Given the description of an element on the screen output the (x, y) to click on. 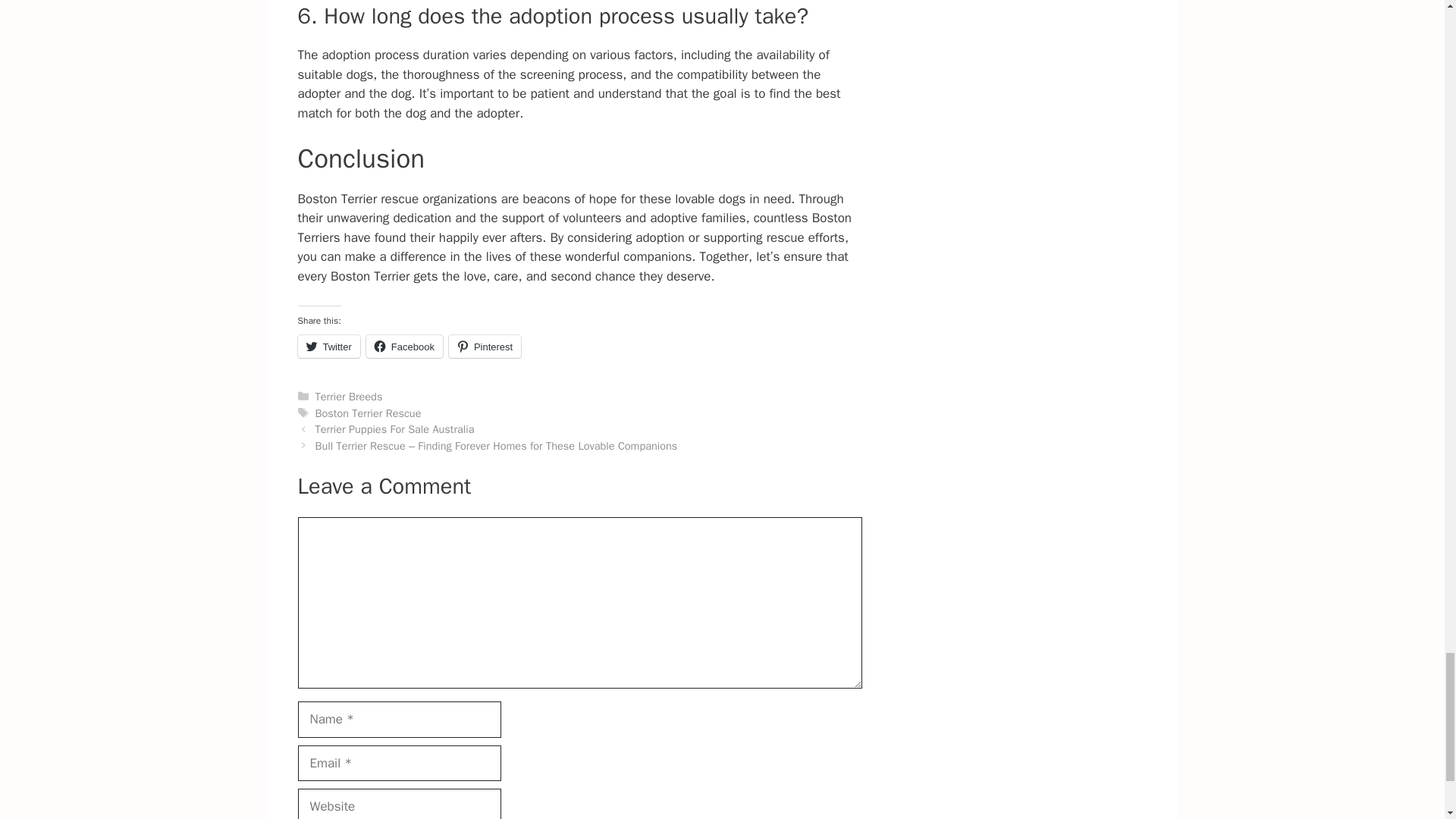
Twitter (328, 345)
Terrier Breeds (348, 396)
Pinterest (484, 345)
Facebook (404, 345)
Boston Terrier Rescue (368, 413)
Terrier Puppies For Sale Australia (394, 428)
